Given the description of an element on the screen output the (x, y) to click on. 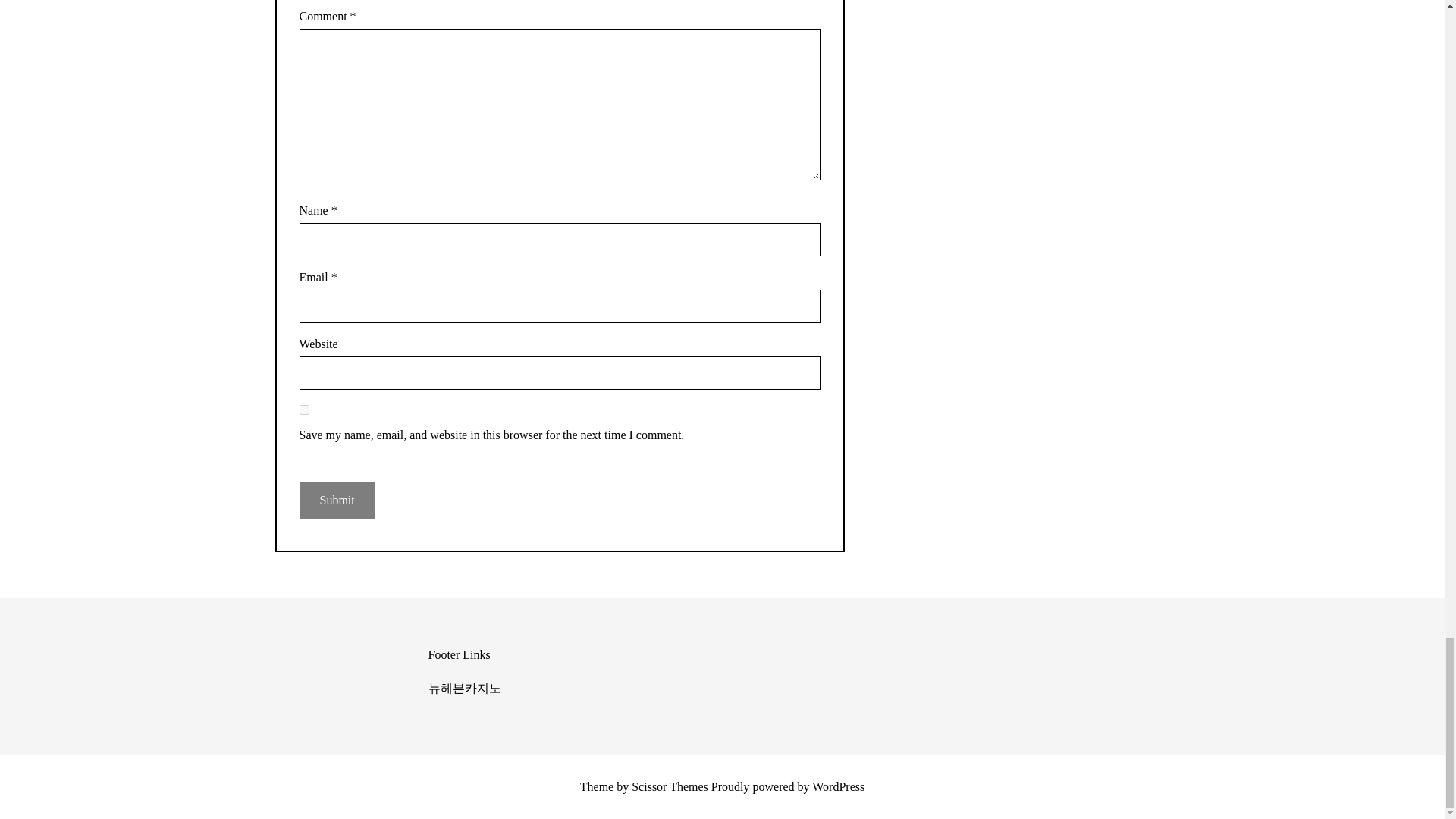
yes (303, 409)
Submit (336, 500)
Submit (336, 500)
